Given the description of an element on the screen output the (x, y) to click on. 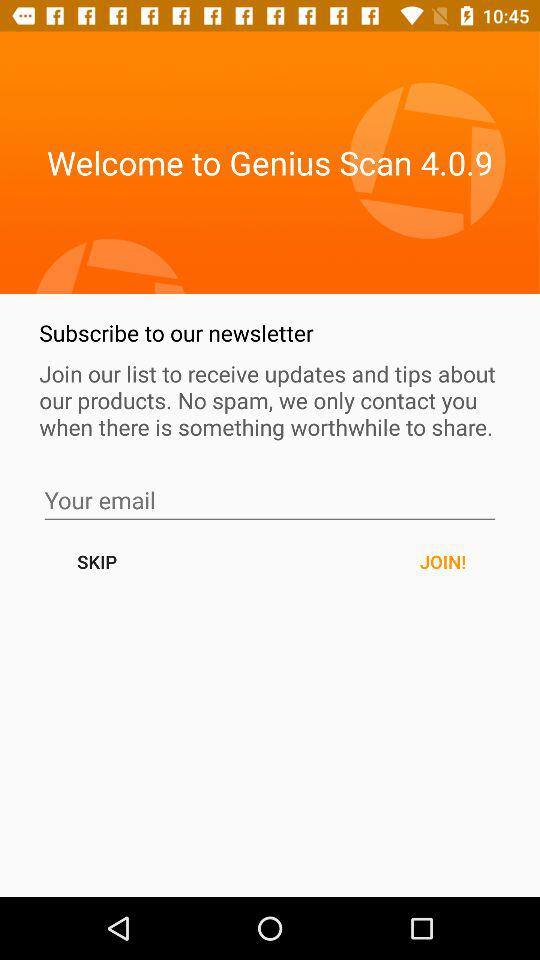
swipe to the join! item (442, 561)
